Given the description of an element on the screen output the (x, y) to click on. 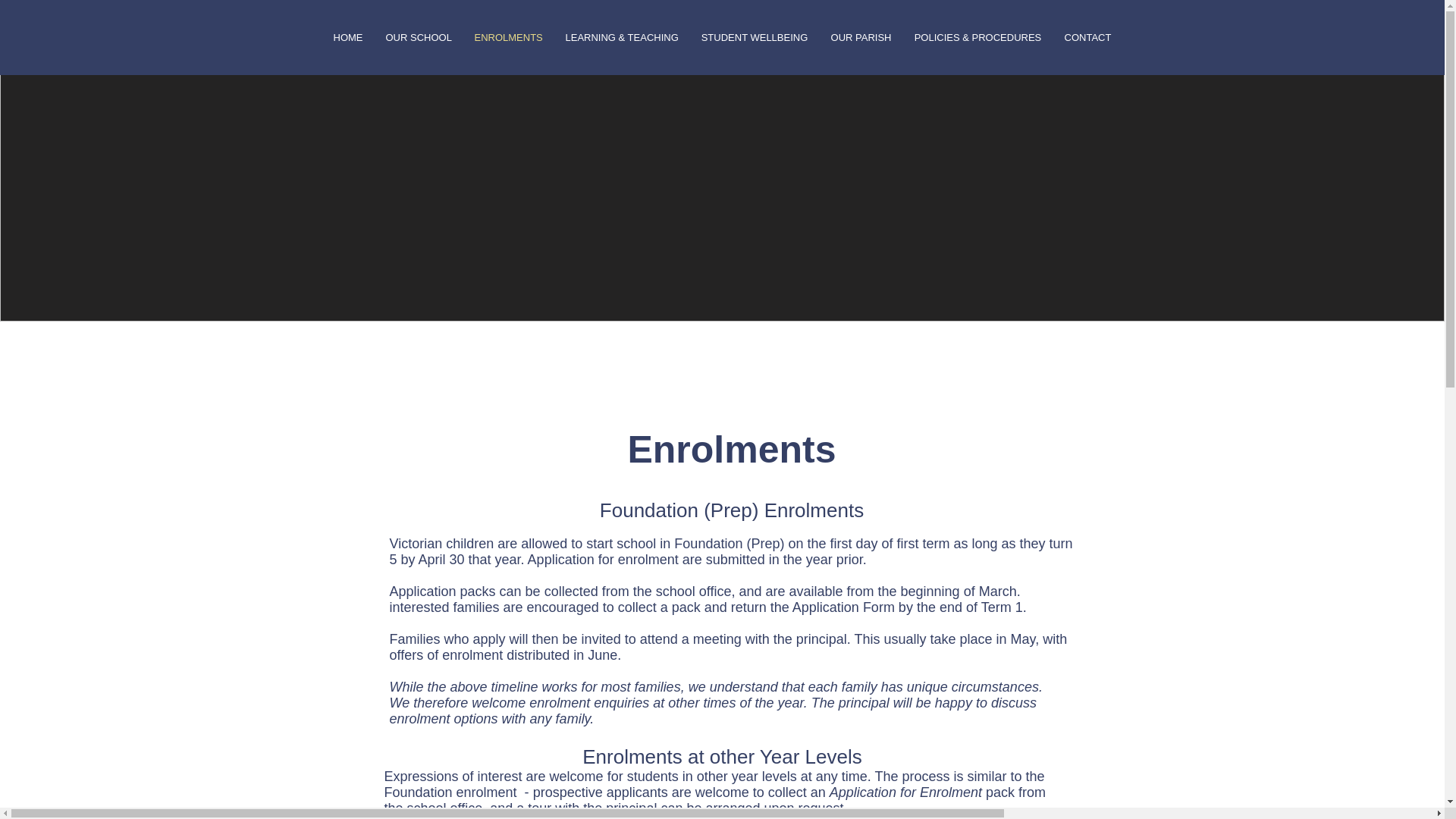
ENROLMENTS (508, 37)
HOME (347, 37)
CONTACT (1087, 37)
OUR SCHOOL (418, 37)
OUR PARISH (860, 37)
STUDENT WELLBEING (754, 37)
